Given the description of an element on the screen output the (x, y) to click on. 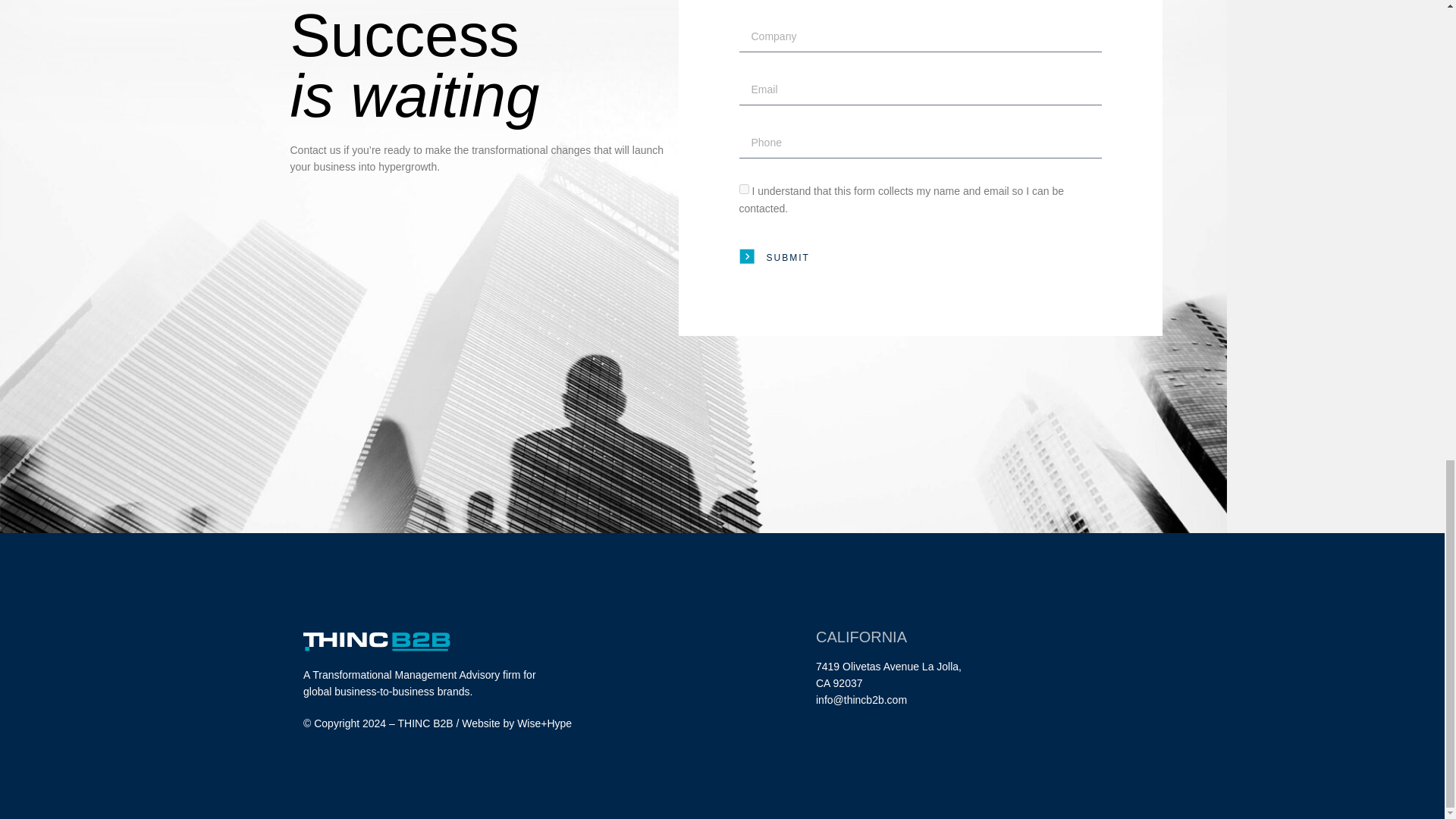
7419 Olivetas Avenue (866, 666)
SUBMIT (773, 257)
on (743, 189)
